Given the description of an element on the screen output the (x, y) to click on. 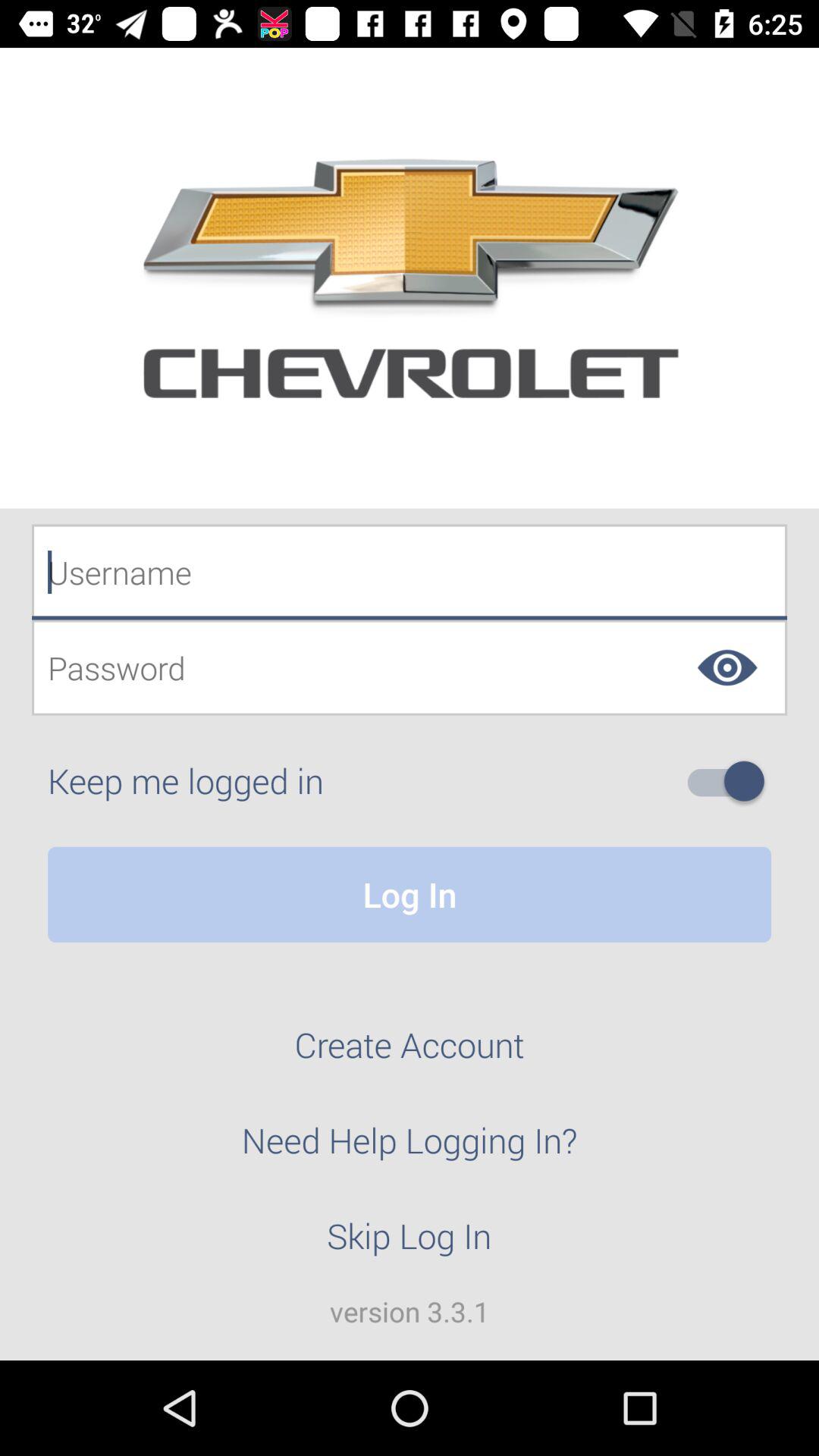
type password (409, 667)
